Given the description of an element on the screen output the (x, y) to click on. 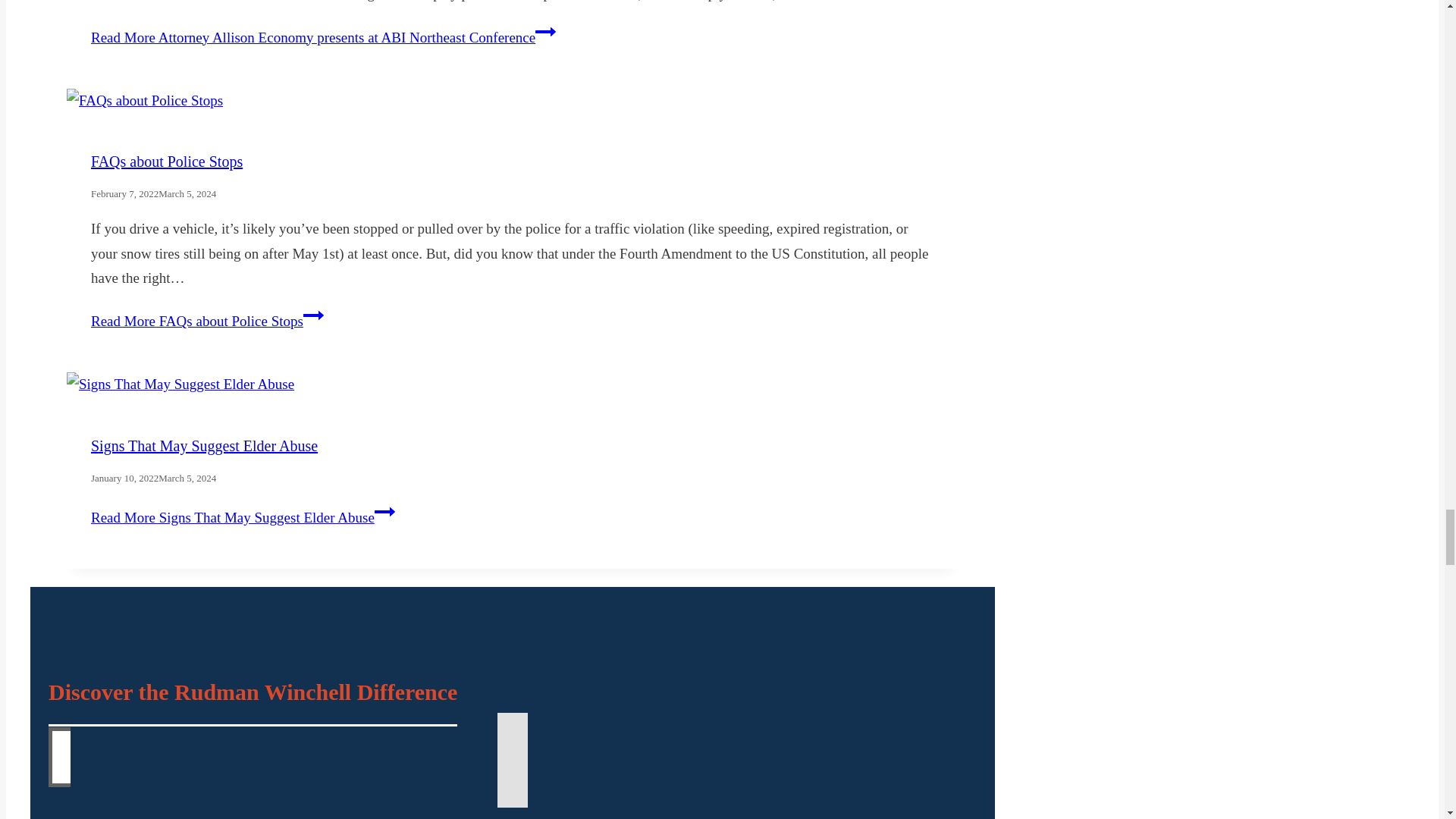
Continue (545, 31)
Continue (384, 511)
Continue (312, 314)
